Given the description of an element on the screen output the (x, y) to click on. 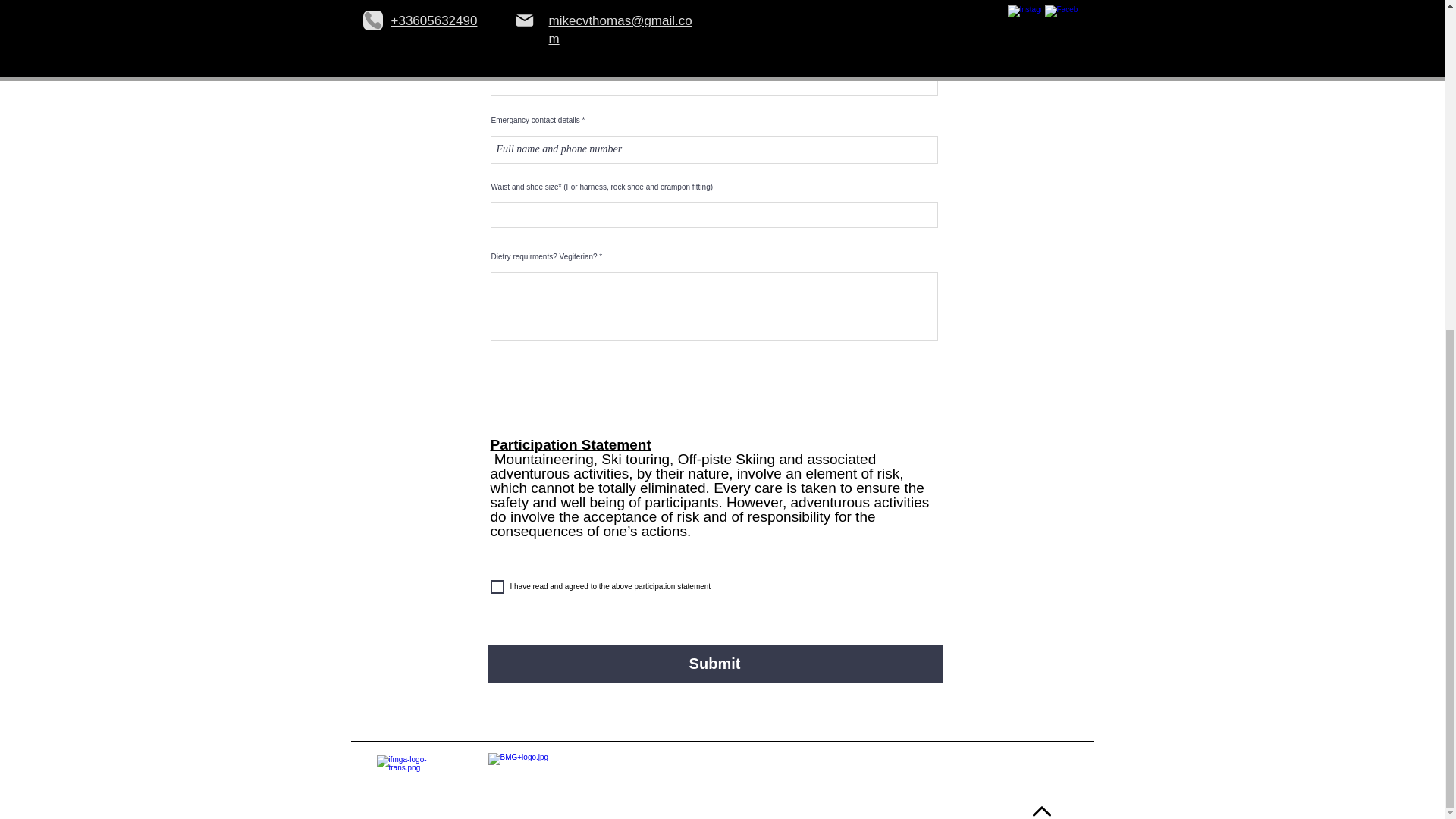
Submit (714, 663)
